Given the description of an element on the screen output the (x, y) to click on. 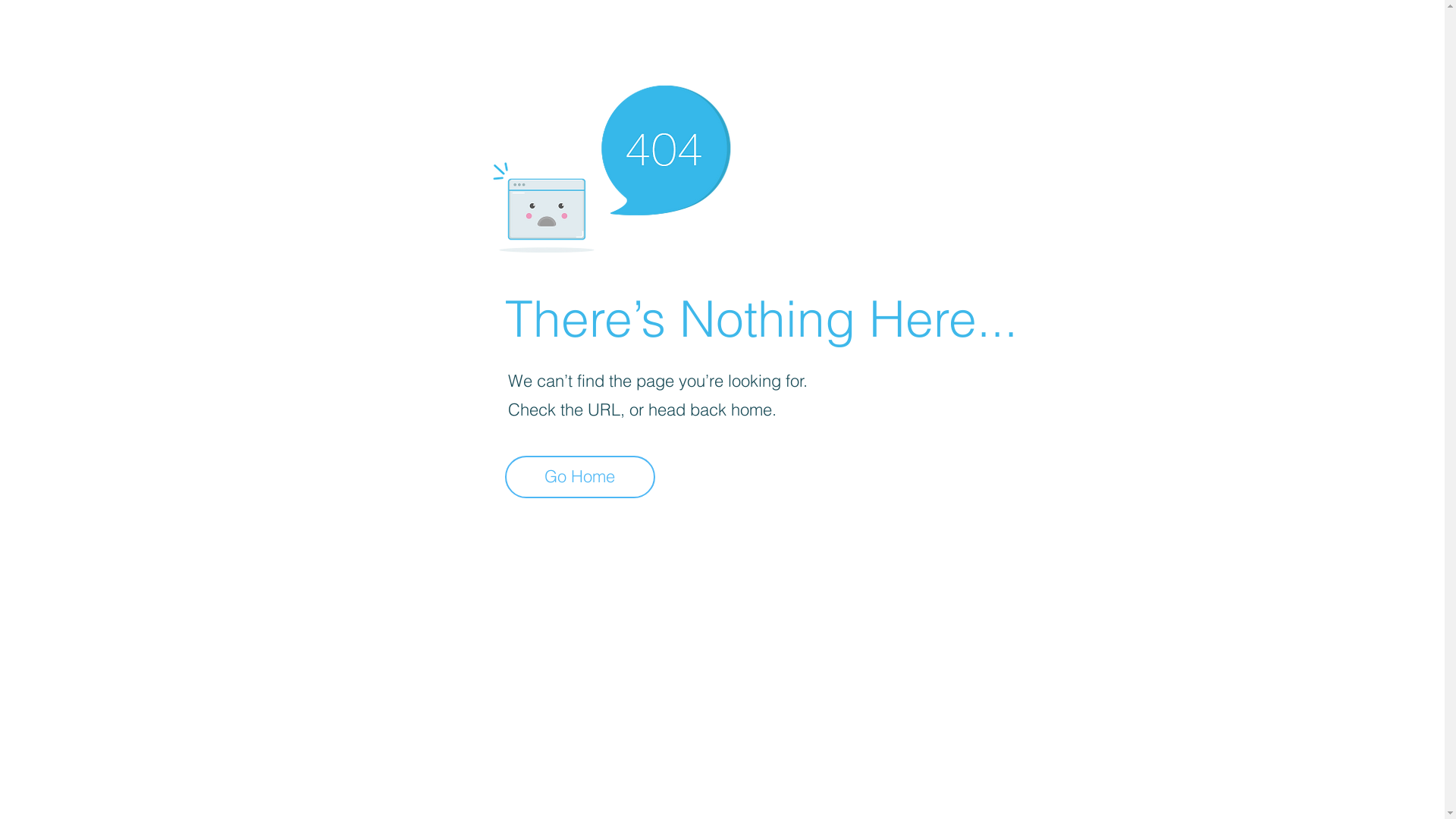
404-icon_2.png Element type: hover (610, 164)
Go Home Element type: text (580, 476)
